Given the description of an element on the screen output the (x, y) to click on. 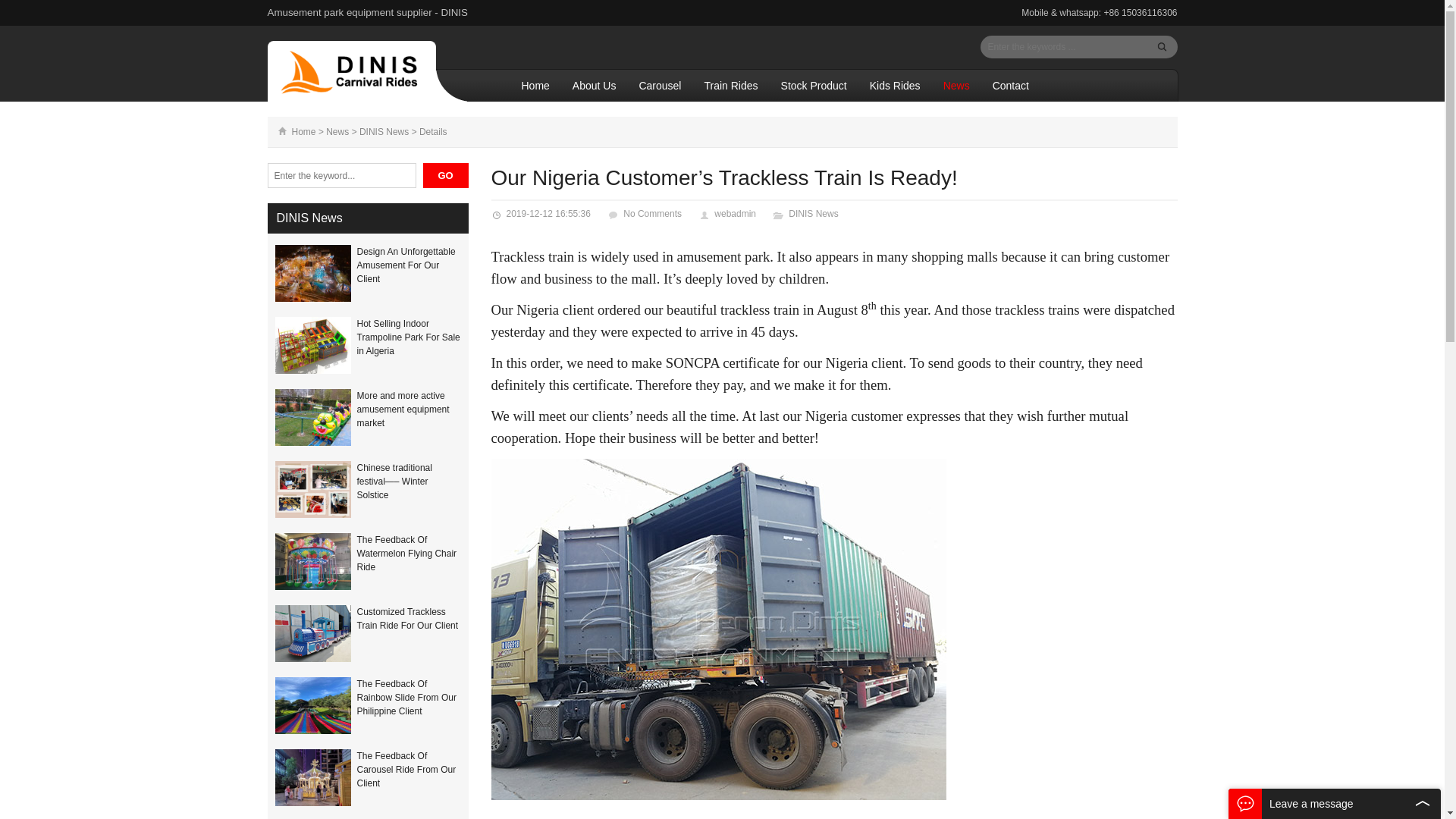
Design An Unforgettable Amusement For Our Client (315, 273)
Search (445, 175)
Stock Product (813, 85)
Carousel (660, 85)
DINIS News (309, 217)
DINIS News (813, 213)
More and more active amusement equipment market (315, 417)
DINIS News (384, 131)
Train Rides (730, 85)
Search (1161, 47)
Home (290, 132)
No Comments (652, 213)
Contact (1010, 85)
More and more active amusement equipment market (402, 409)
